Given the description of an element on the screen output the (x, y) to click on. 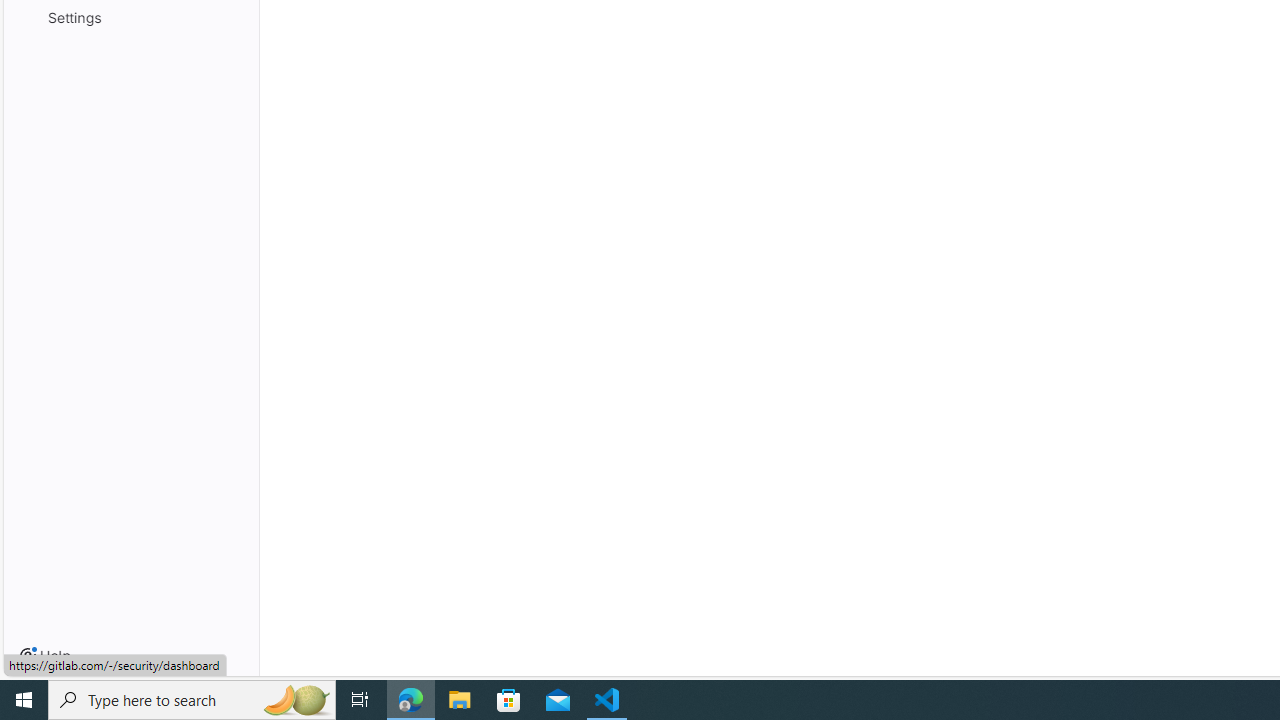
Settings (130, 16)
Settings (130, 16)
Help (45, 655)
